Given the description of an element on the screen output the (x, y) to click on. 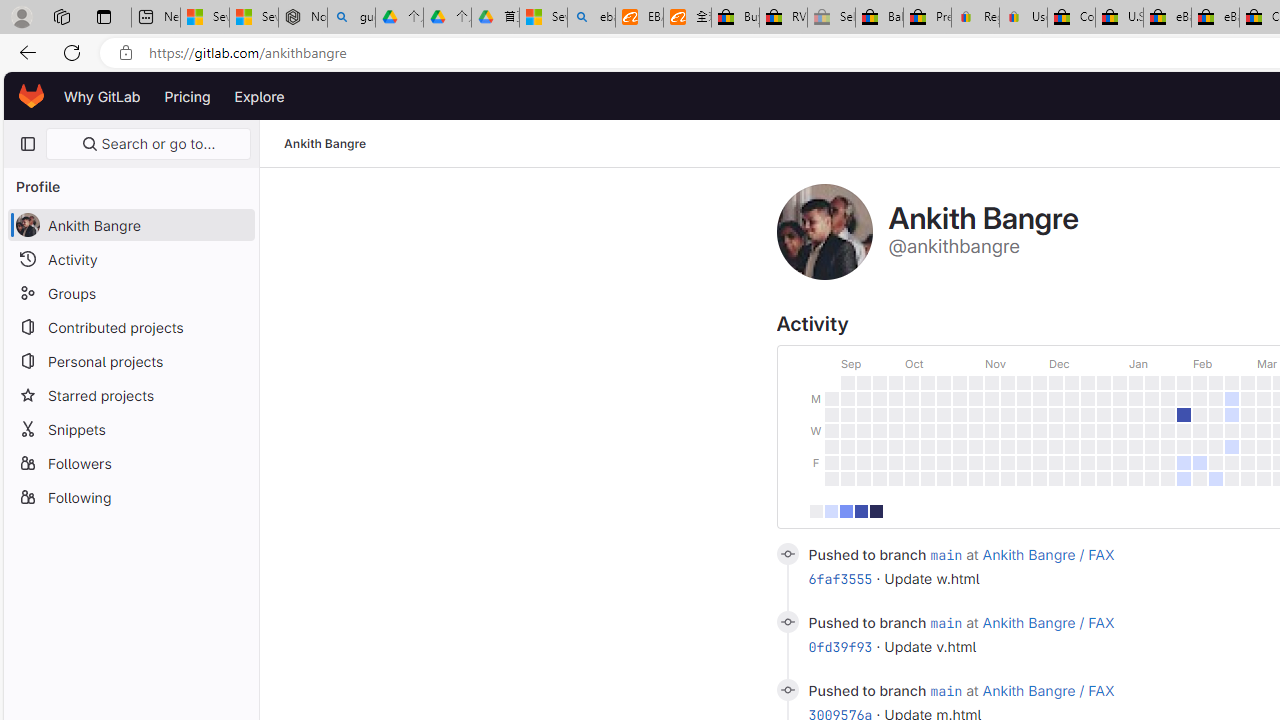
Sell worldwide with eBay - Sleeping (831, 17)
Starred projects (130, 394)
main (946, 690)
6faf3555 (839, 579)
Refresh (72, 52)
Consumer Health Data Privacy Policy - eBay Inc. (1071, 17)
